Given the description of an element on the screen output the (x, y) to click on. 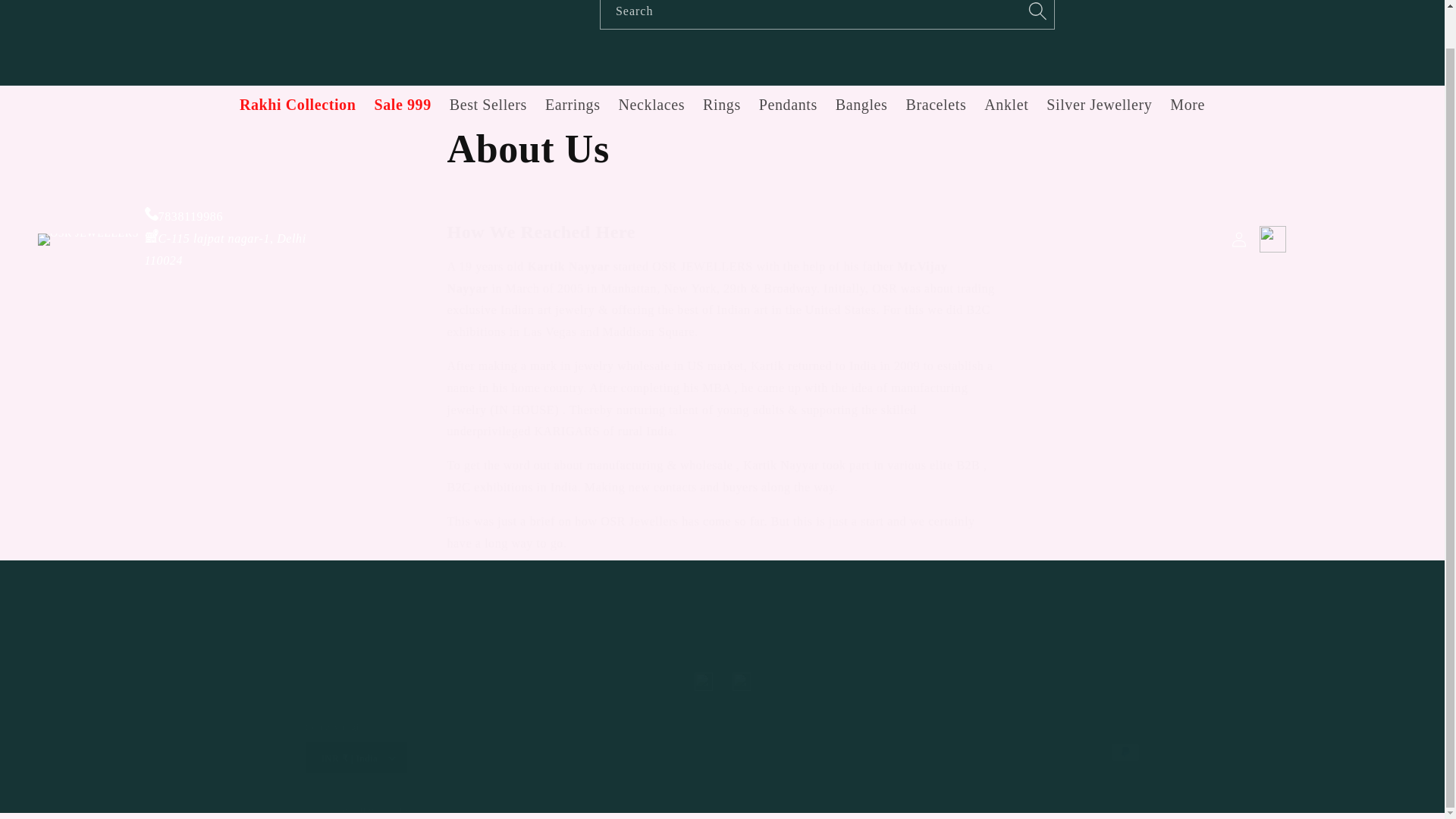
About Us (721, 149)
7838119986 (183, 215)
Best Sellers (488, 104)
Sale 999 (721, 681)
Cart (402, 104)
Bangles (1271, 238)
Rings (861, 104)
Rakhi Collection (721, 104)
Pendants (297, 104)
Bracelets (788, 104)
Necklaces (935, 104)
Earrings (652, 104)
